Given the description of an element on the screen output the (x, y) to click on. 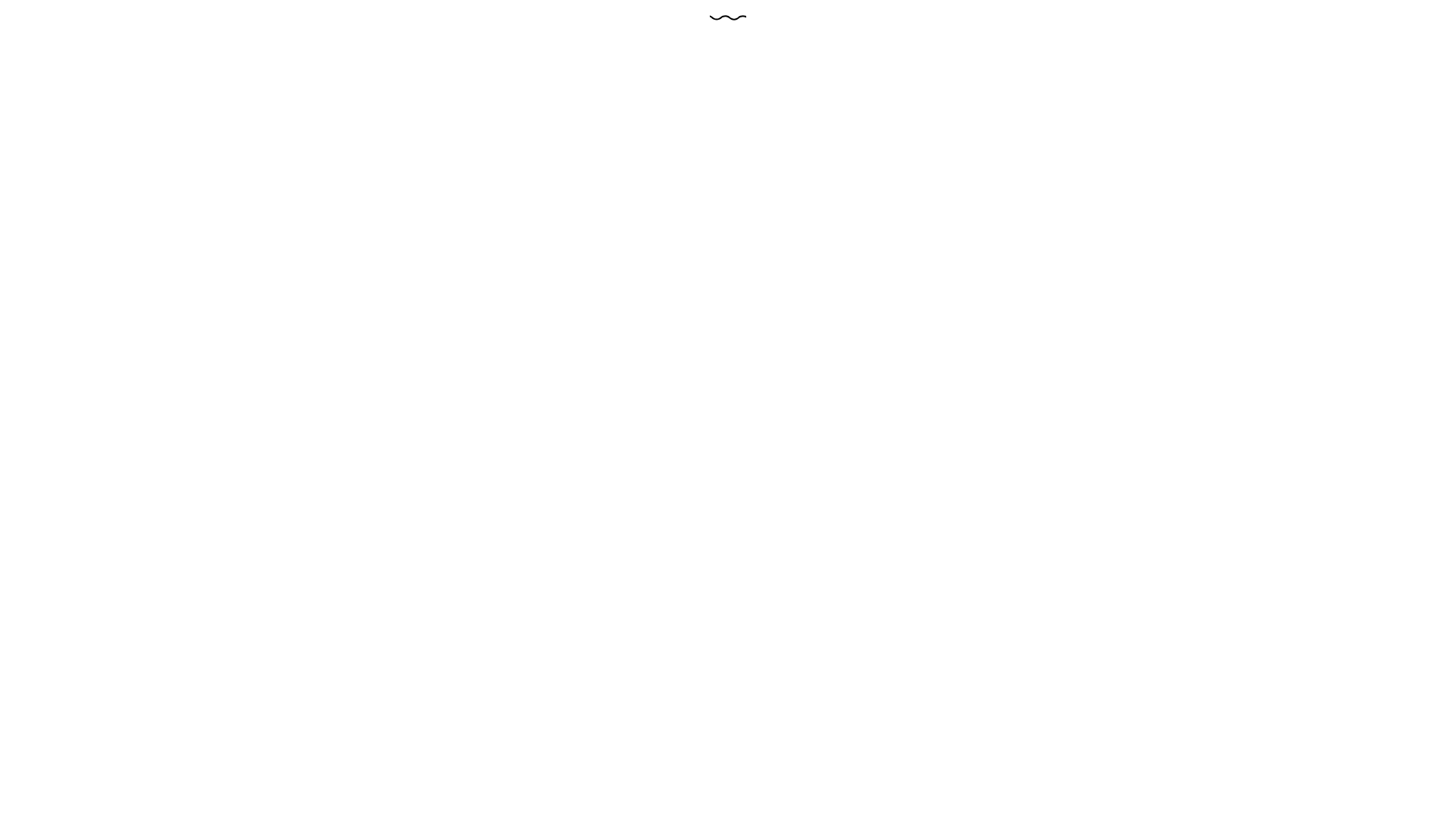
loading animation Element type: hover (727, 18)
